Given the description of an element on the screen output the (x, y) to click on. 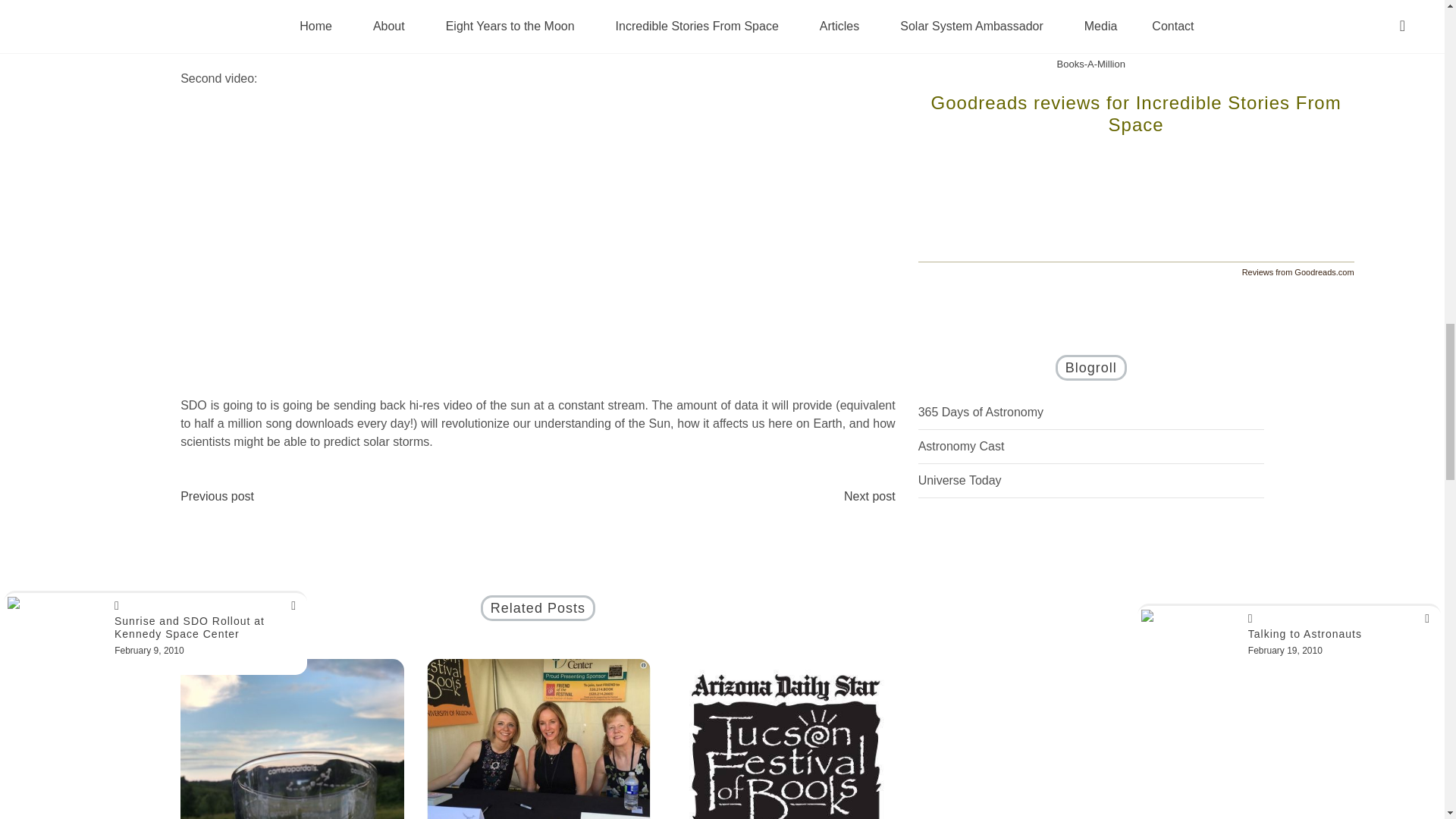
Next post (869, 495)
Previous post (216, 495)
